Given the description of an element on the screen output the (x, y) to click on. 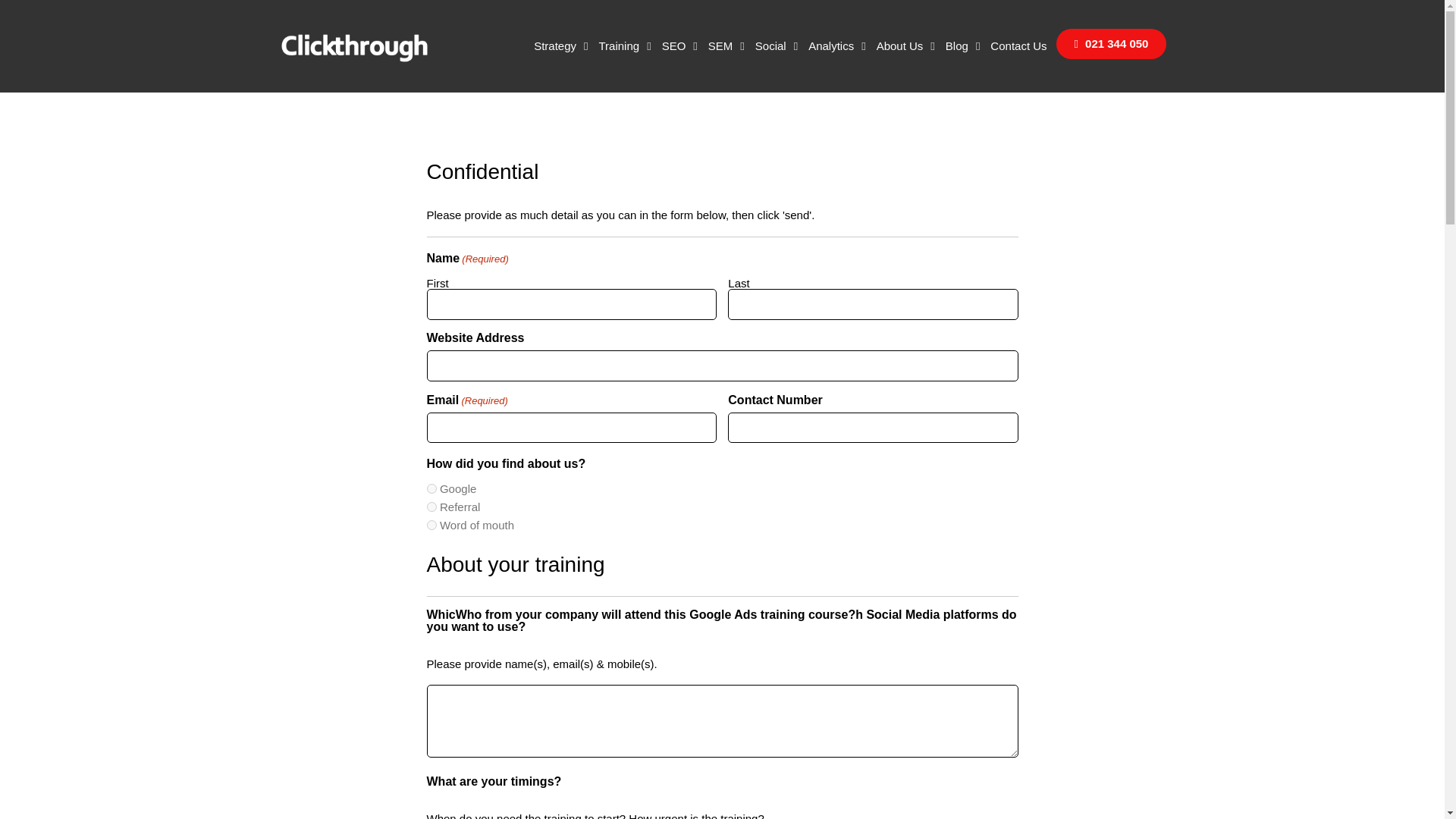
Training (624, 45)
Strategy (560, 45)
Referral (430, 506)
SEO (679, 45)
Google (430, 488)
Word of mouth (430, 524)
